Given the description of an element on the screen output the (x, y) to click on. 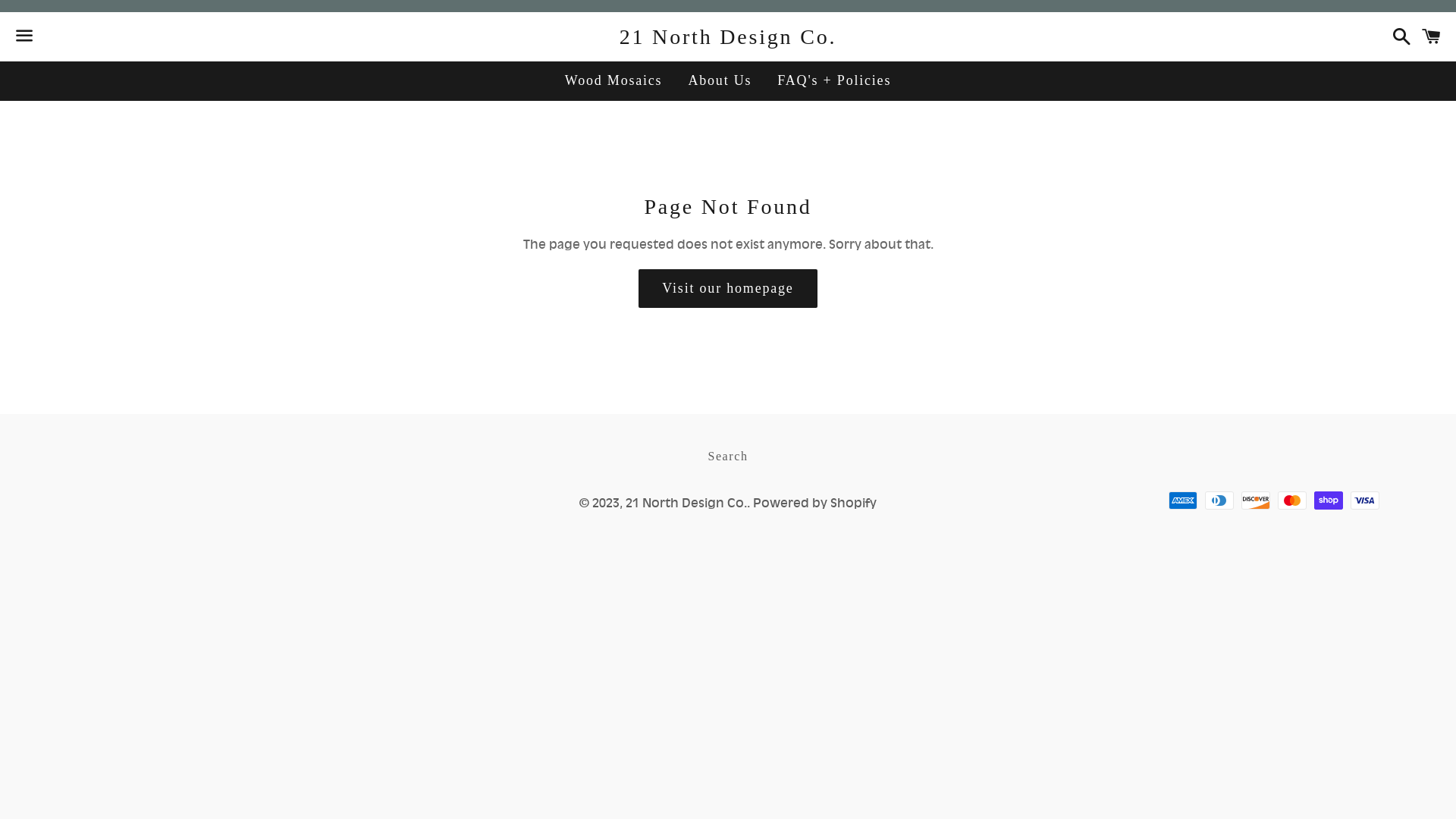
Wood Mosaics Element type: text (613, 80)
Visit our homepage Element type: text (727, 288)
21 North Design Co. Element type: text (685, 502)
FAQ's + Policies Element type: text (833, 80)
Menu Element type: text (24, 36)
Powered by Shopify Element type: text (814, 502)
Cart Element type: text (1431, 36)
Search Element type: text (1397, 36)
About Us Element type: text (719, 80)
21 North Design Co. Element type: text (727, 36)
Search Element type: text (727, 456)
